Given the description of an element on the screen output the (x, y) to click on. 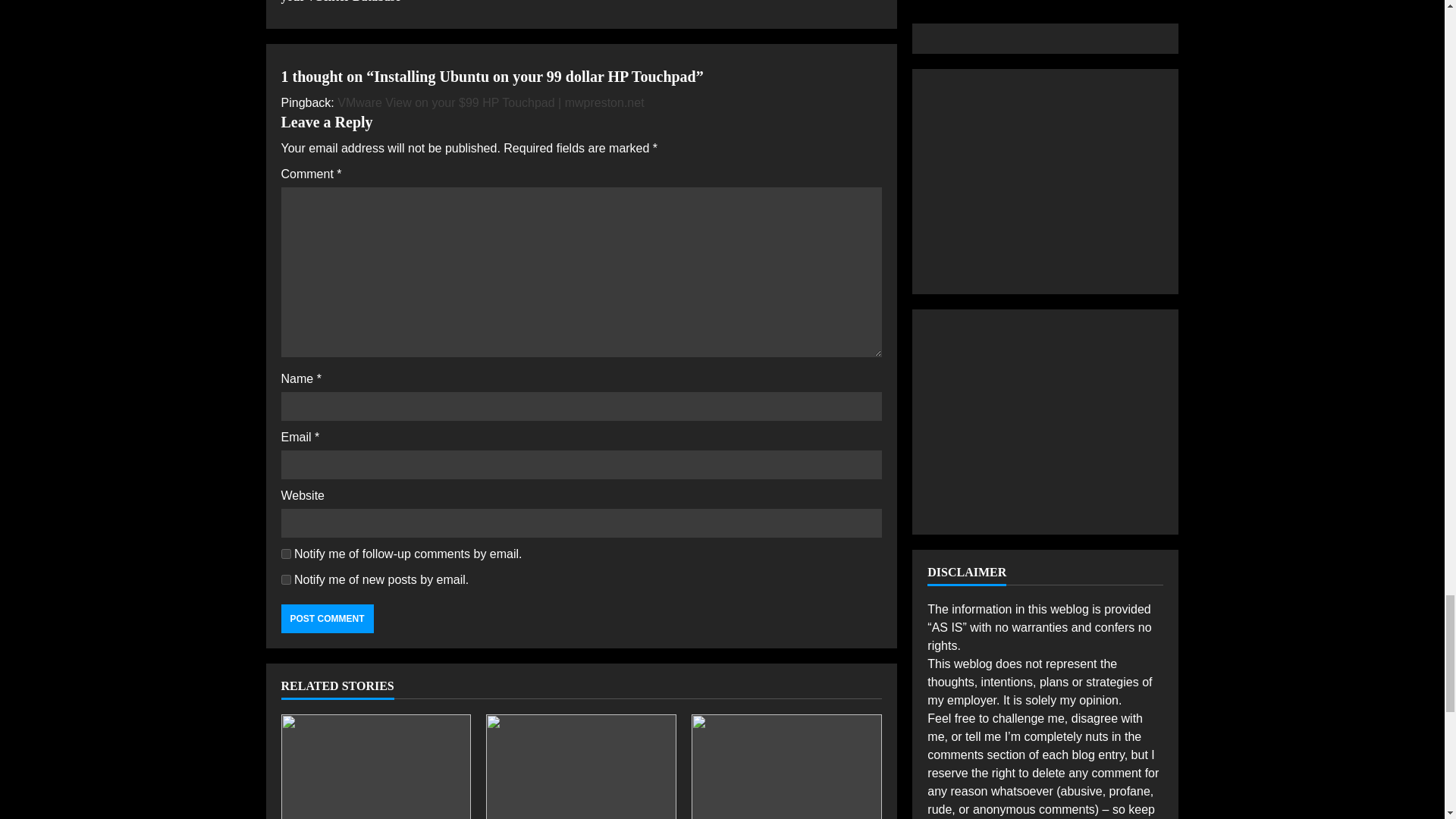
subscribe (285, 553)
Post Comment (326, 618)
subscribe (285, 579)
